Given the description of an element on the screen output the (x, y) to click on. 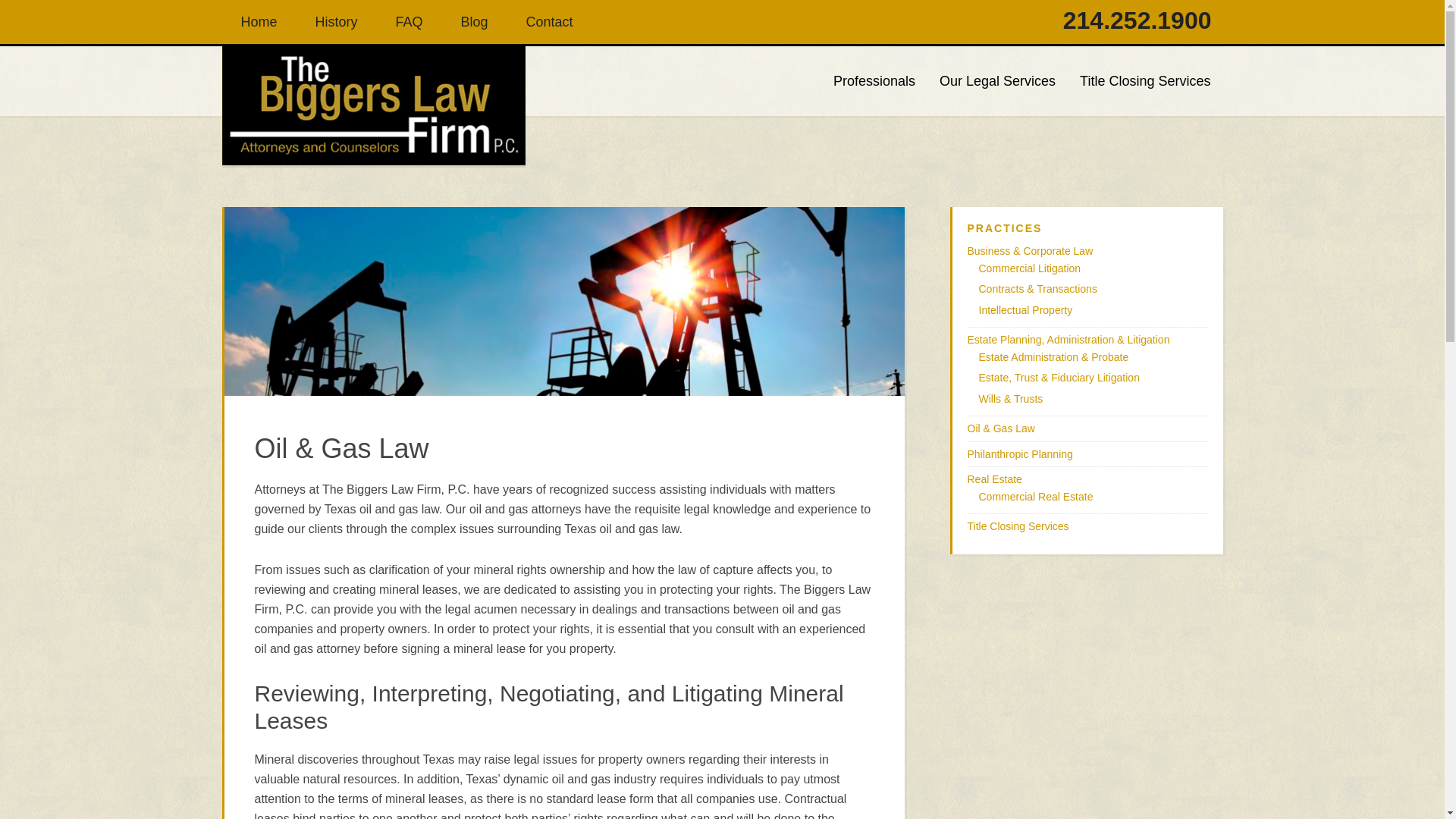
FAQ (409, 22)
Intellectual Property (1024, 309)
Our Legal Services (997, 80)
214.252.1900 (1137, 20)
Contact (549, 22)
Title Closing Services (1145, 80)
Commercial Litigation (1029, 268)
Professionals (874, 80)
History (337, 22)
Home (258, 22)
